Given the description of an element on the screen output the (x, y) to click on. 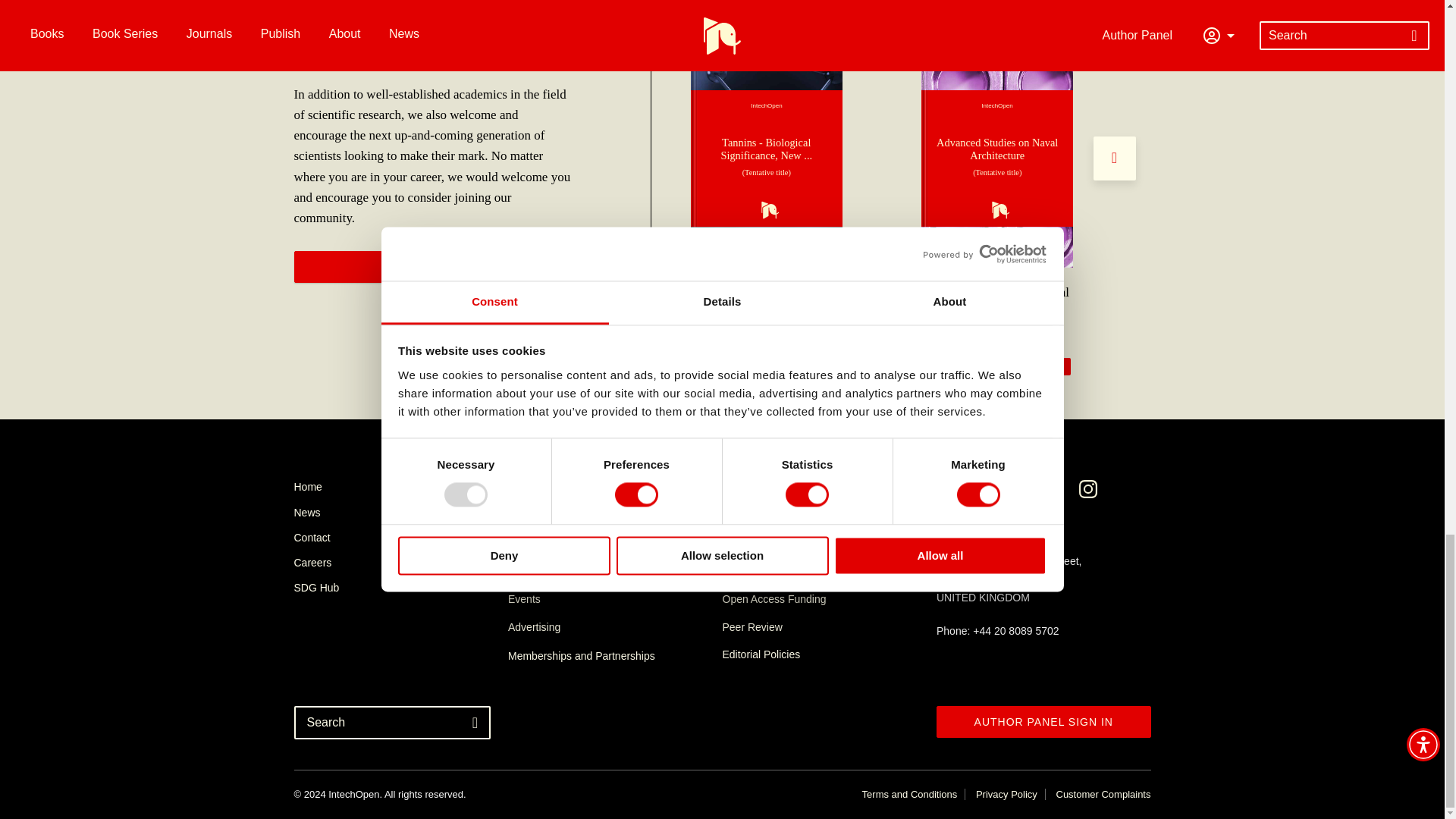
IntechOpen (766, 158)
IntechOpen (997, 158)
